Given the description of an element on the screen output the (x, y) to click on. 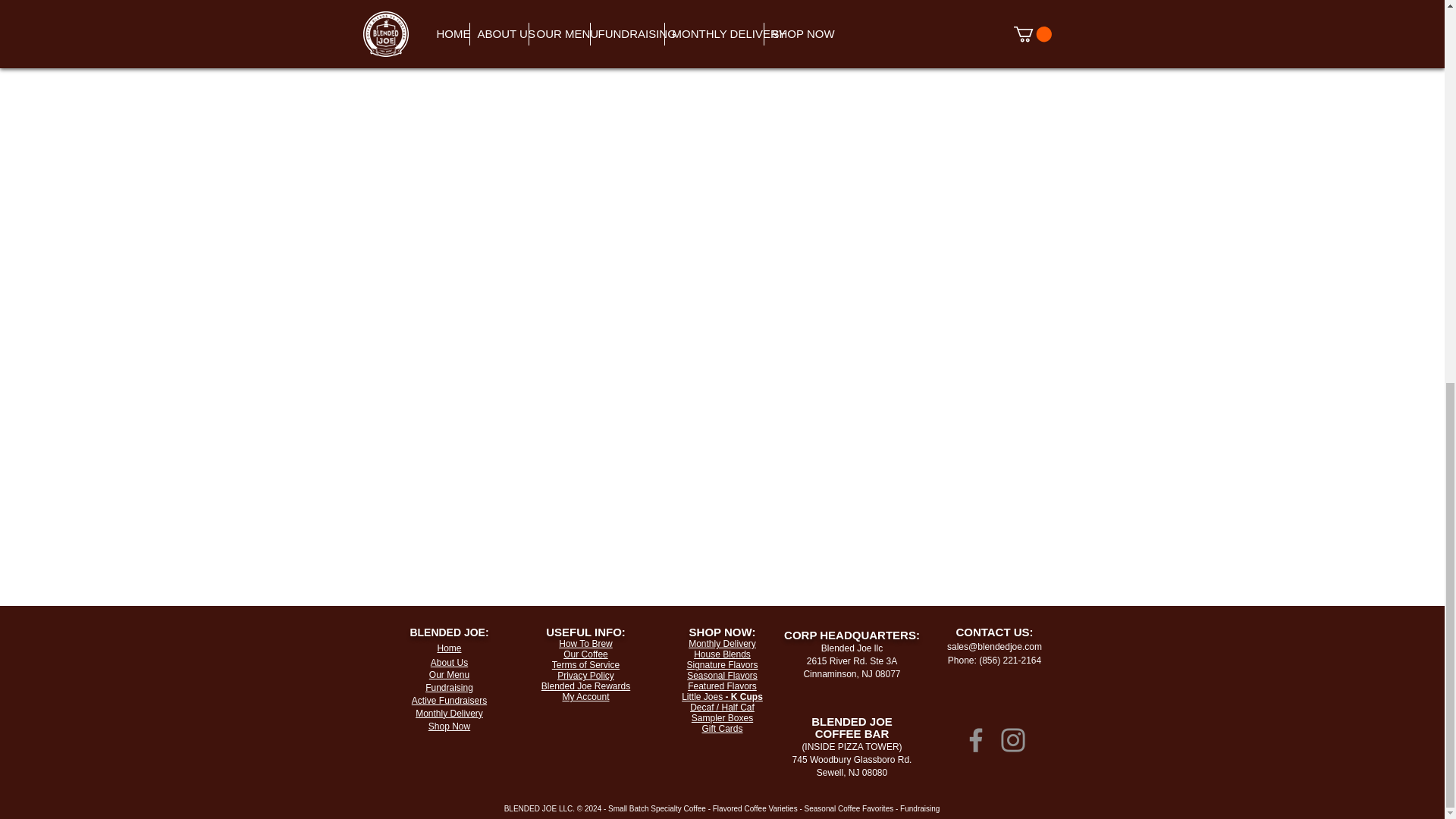
Shop Now (449, 726)
Our Coffee (585, 654)
Seasonal Flavors (722, 675)
Monthly Delivery (448, 713)
Blended Joe Rewards (585, 685)
My Account (585, 696)
Little Joes - K Cups (721, 696)
Privacy Policy (585, 675)
Featured Flavors (722, 685)
Fundraising (449, 687)
